Given the description of an element on the screen output the (x, y) to click on. 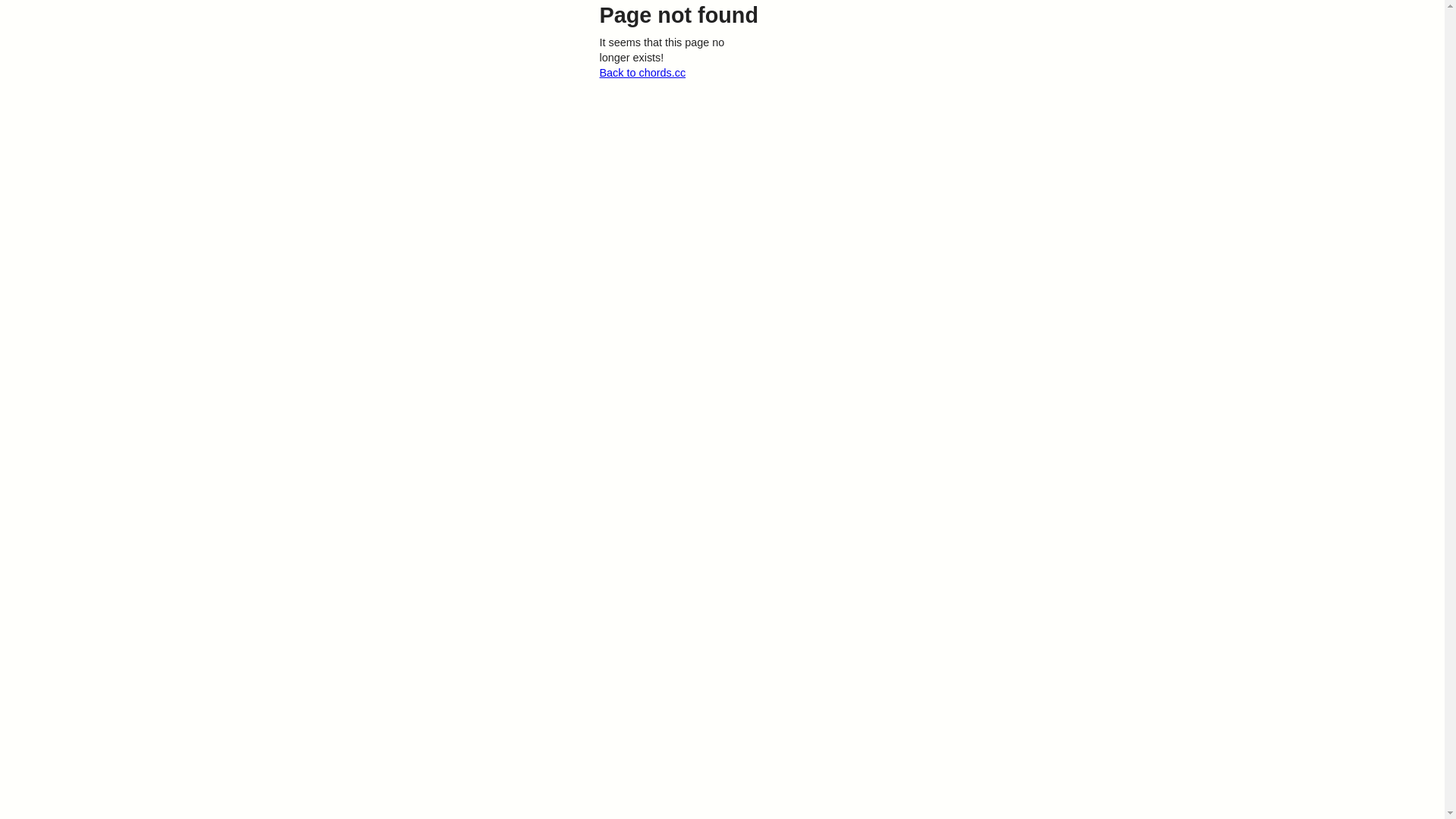
Back to chords.cc Element type: text (642, 72)
